Given the description of an element on the screen output the (x, y) to click on. 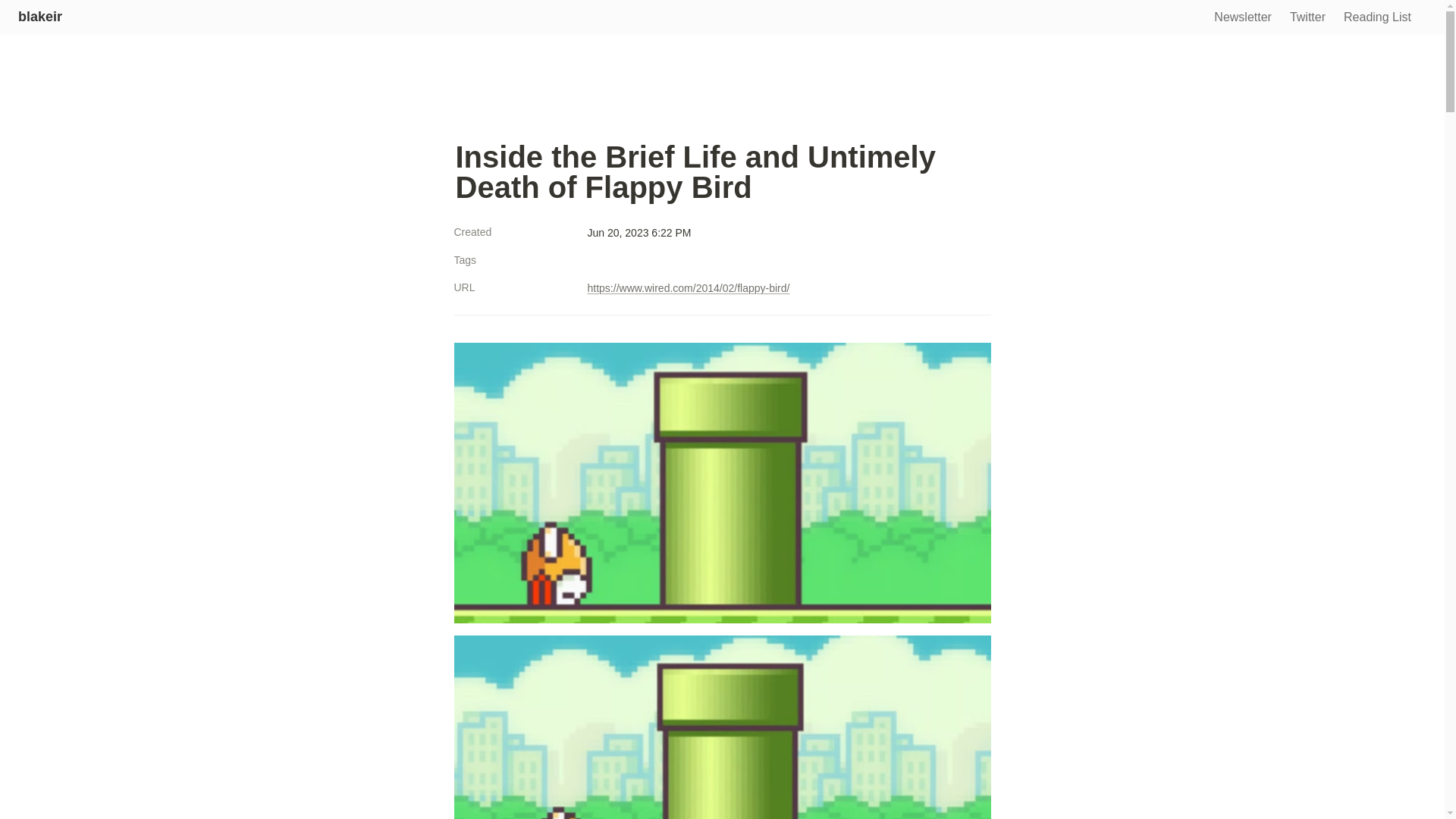
Twitter (1308, 18)
Reading List (1378, 18)
Newsletter (1243, 18)
blakeir (39, 17)
